Given the description of an element on the screen output the (x, y) to click on. 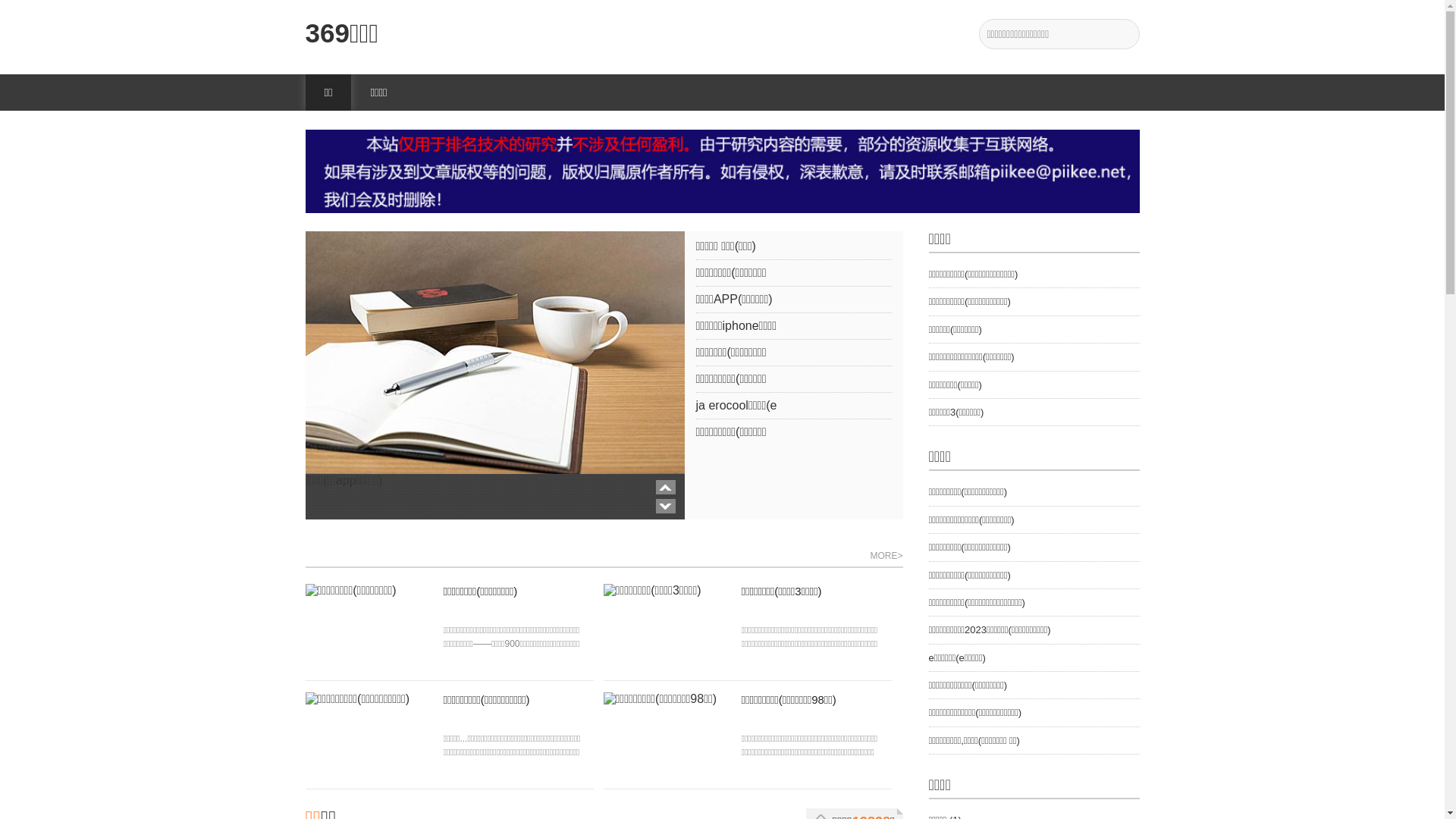
MORE> Element type: text (885, 556)
